Given the description of an element on the screen output the (x, y) to click on. 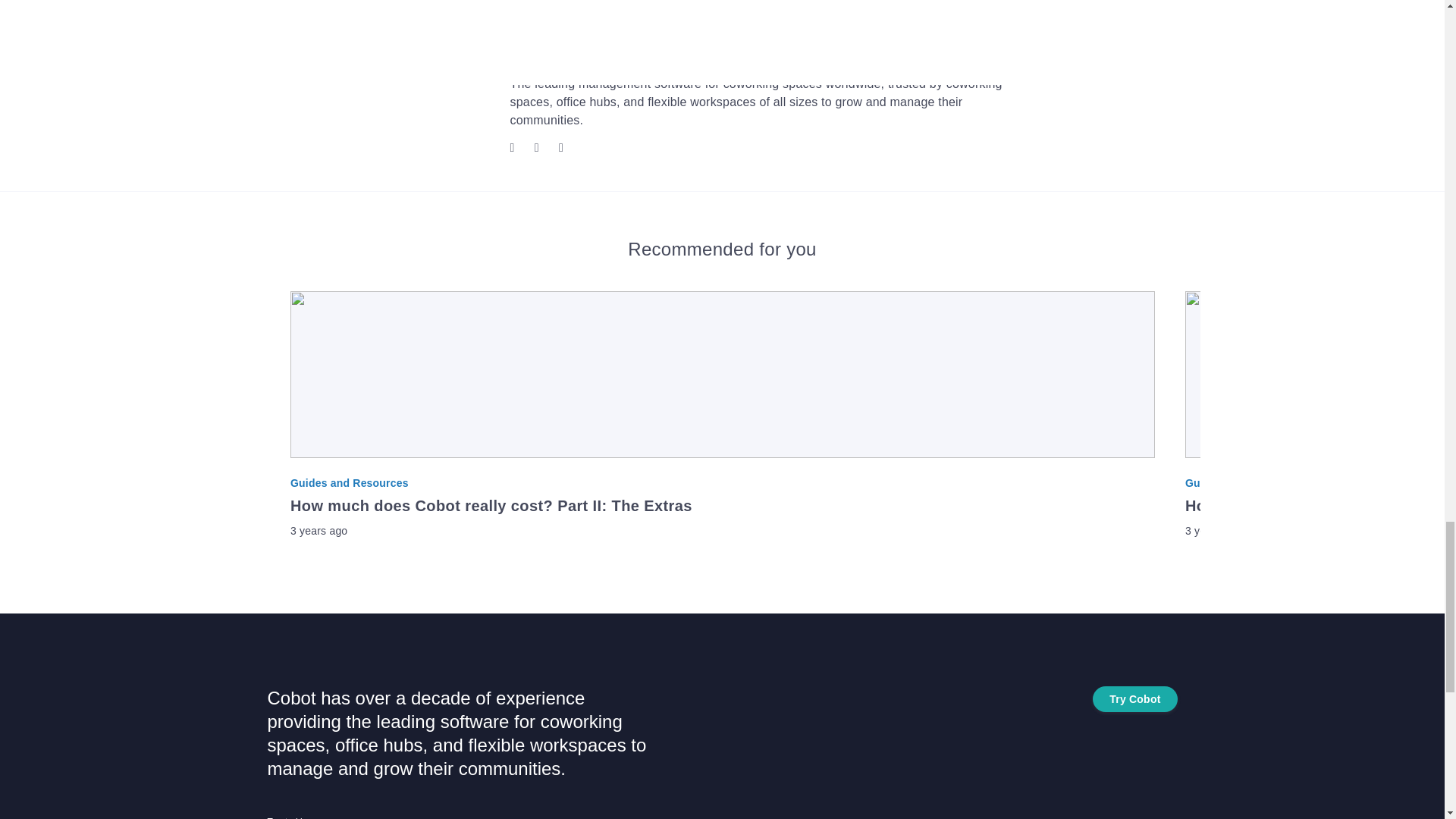
Cobot (530, 53)
Guides and Resources (721, 483)
How much does Cobot really cost? Part II: The Extras (721, 506)
